Given the description of an element on the screen output the (x, y) to click on. 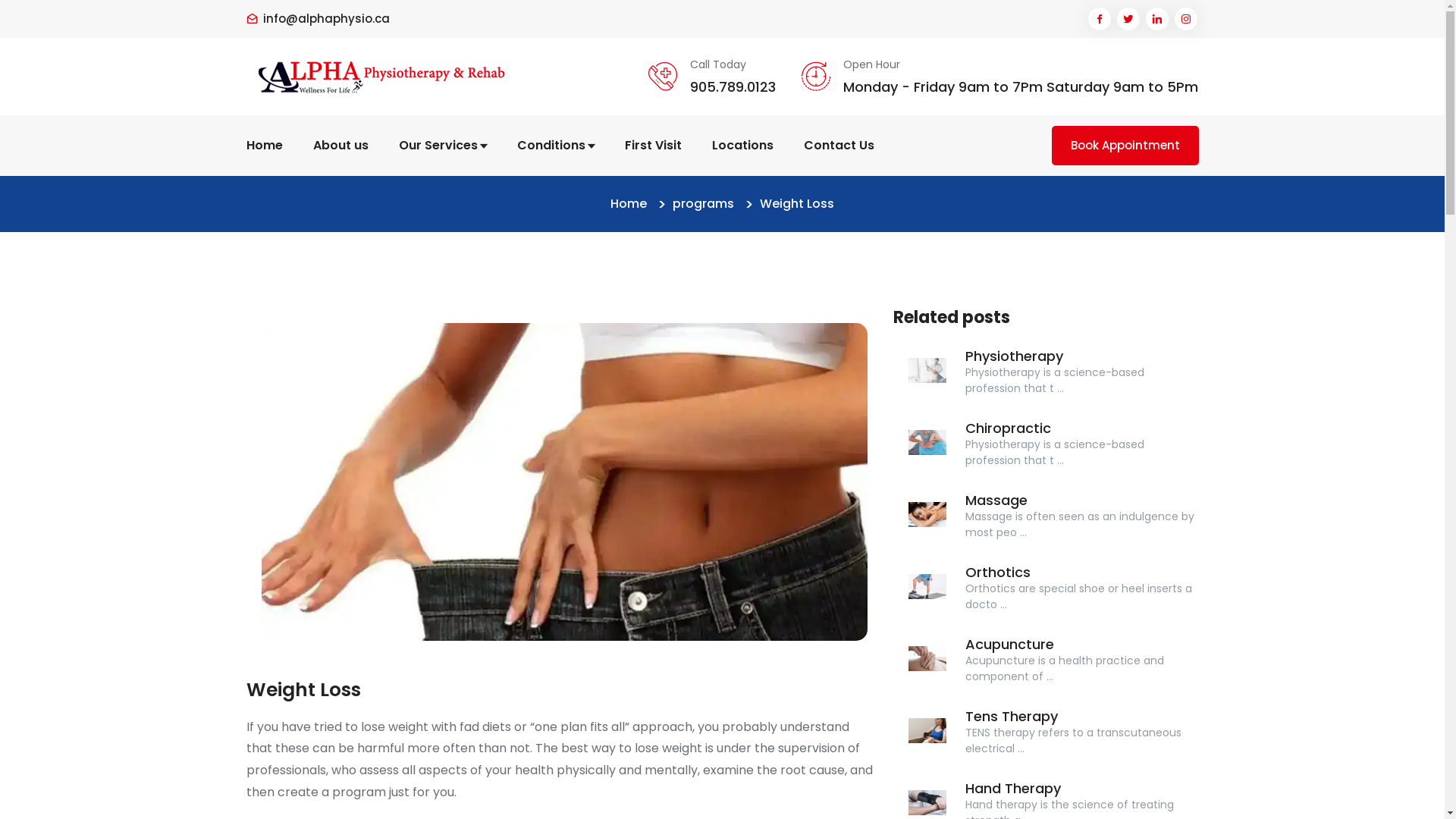
Acupuncture Element type: text (1009, 643)
info@alphaphysio.ca Element type: text (325, 19)
About us Element type: text (339, 145)
905.789.0123 Element type: text (732, 85)
Massage Element type: text (996, 499)
Tens Therapy Element type: text (1011, 715)
Acupuncture Element type: hover (927, 658)
Orthotics Element type: text (997, 571)
Conditions Element type: text (555, 145)
First Visit Element type: text (652, 145)
Massage Element type: hover (927, 514)
Our Services Element type: text (442, 145)
Contact Us Element type: text (838, 145)
Weight Loss Element type: hover (564, 481)
Home Element type: text (628, 203)
Chiropractic Element type: hover (927, 442)
Orthotics Element type: hover (927, 586)
Home Element type: text (263, 145)
Physiotherapy Element type: text (1014, 355)
Tens Therapy Element type: hover (927, 730)
Chiropractic Element type: text (1008, 427)
Book Appointment Element type: text (1124, 145)
Hand Therapy Element type: text (1012, 787)
Locations Element type: text (741, 145)
Physiotherapy Element type: hover (927, 370)
